Given the description of an element on the screen output the (x, y) to click on. 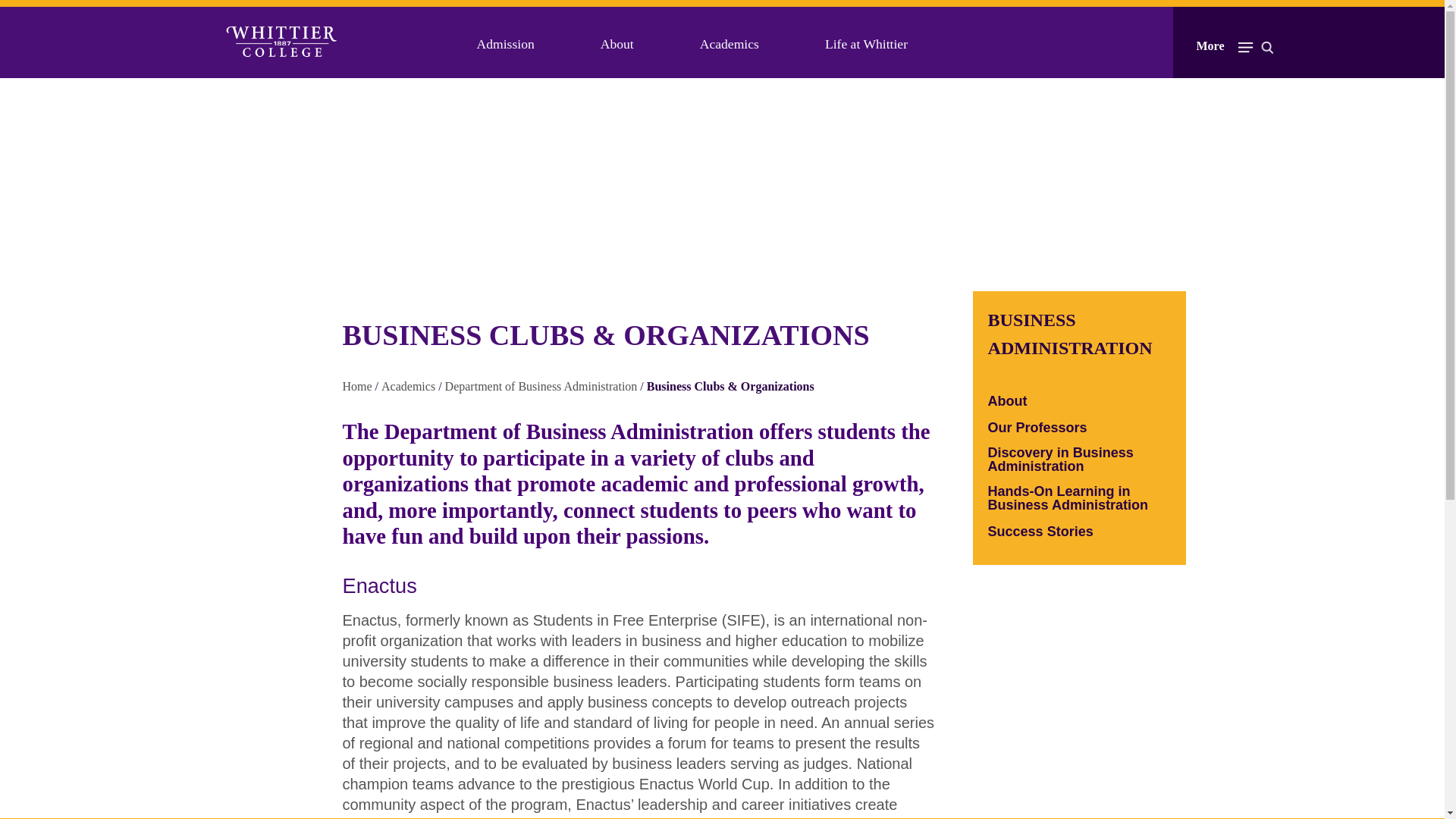
Admission (505, 43)
Life at Whittier (866, 43)
About (616, 43)
Academics (729, 43)
